Given the description of an element on the screen output the (x, y) to click on. 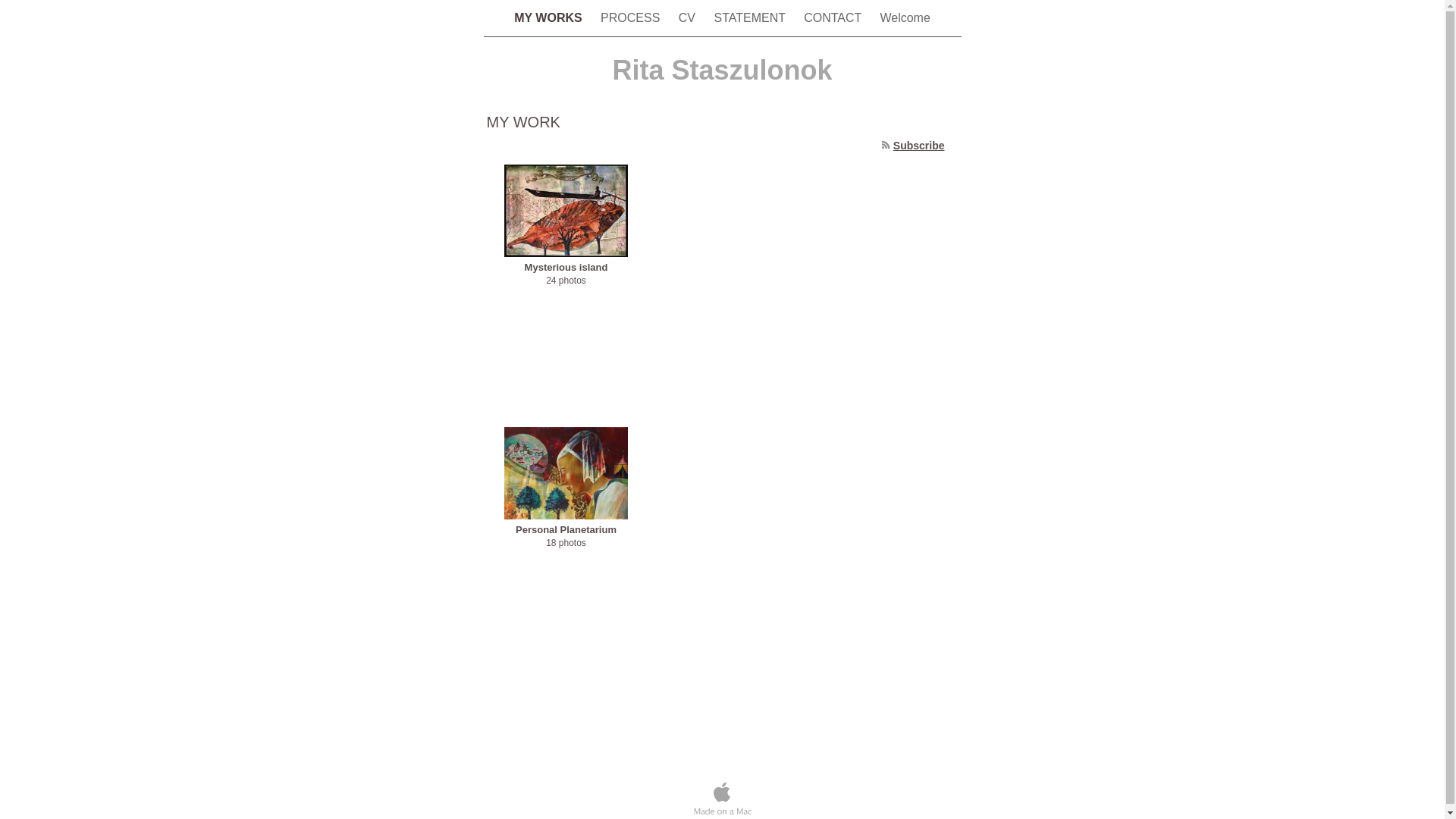
Welcome Element type: text (904, 17)
STATEMENT Element type: text (750, 17)
MY WORKS Element type: text (549, 17)
CV Element type: text (688, 17)
PROCESS Element type: text (631, 17)
CONTACT Element type: text (833, 17)
Subscribe Element type: text (918, 145)
